Given the description of an element on the screen output the (x, y) to click on. 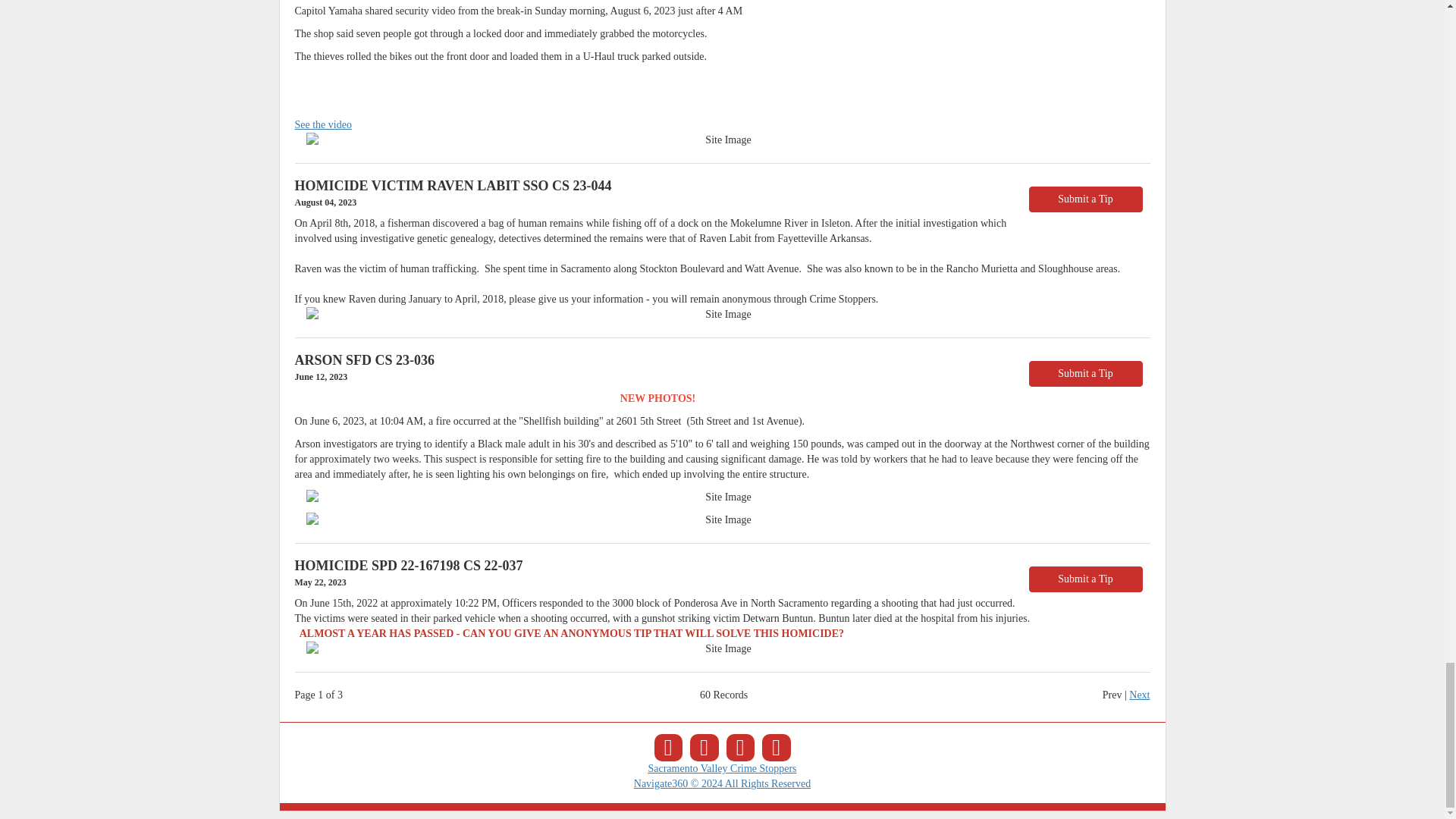
Click to Enlarge (721, 648)
Click to Enlarge (721, 140)
Click to Enlarge (721, 314)
Our Mobile App (775, 747)
Click to Enlarge (721, 497)
